Given the description of an element on the screen output the (x, y) to click on. 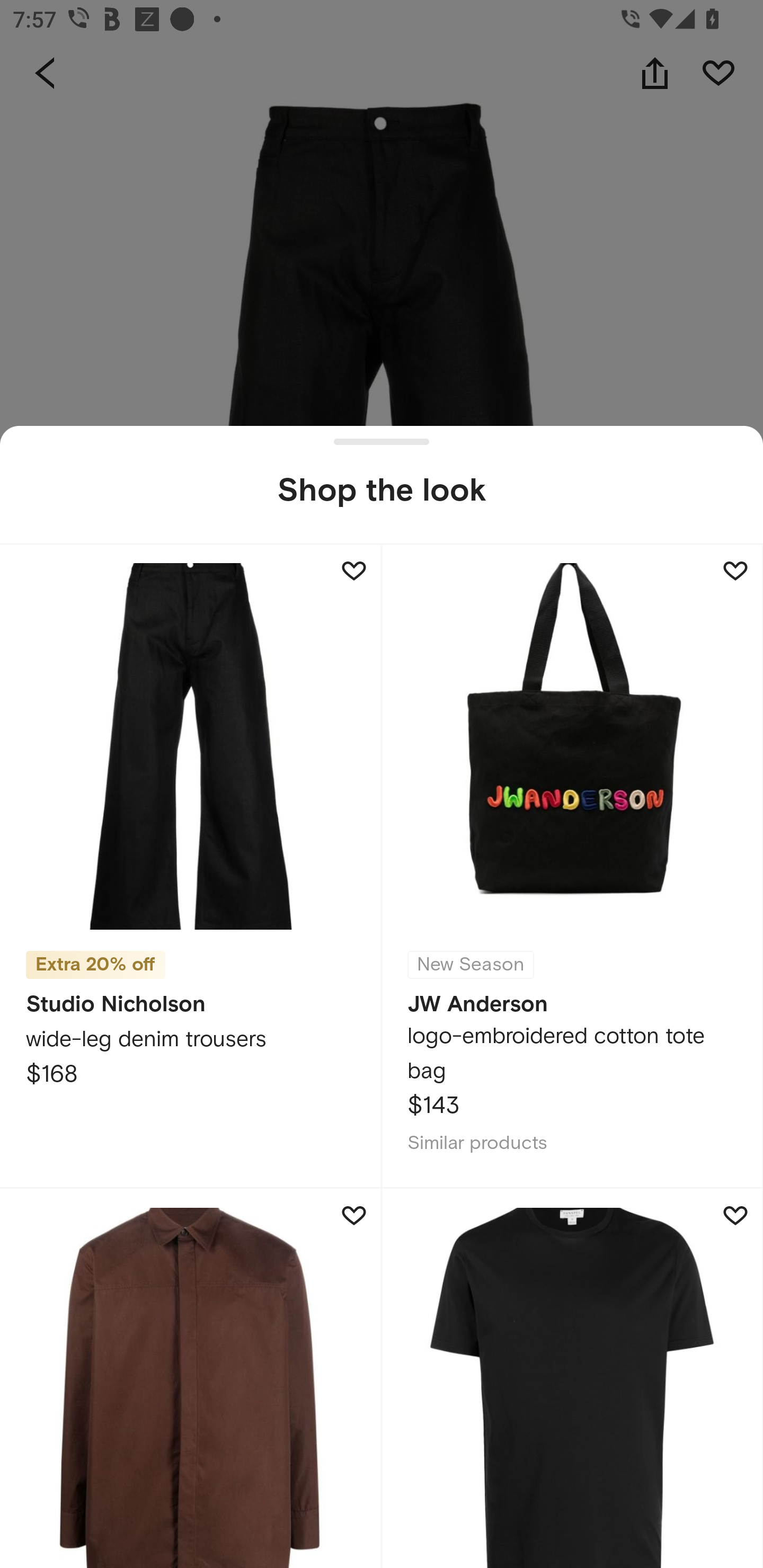
Extra 20% off (95, 957)
